Given the description of an element on the screen output the (x, y) to click on. 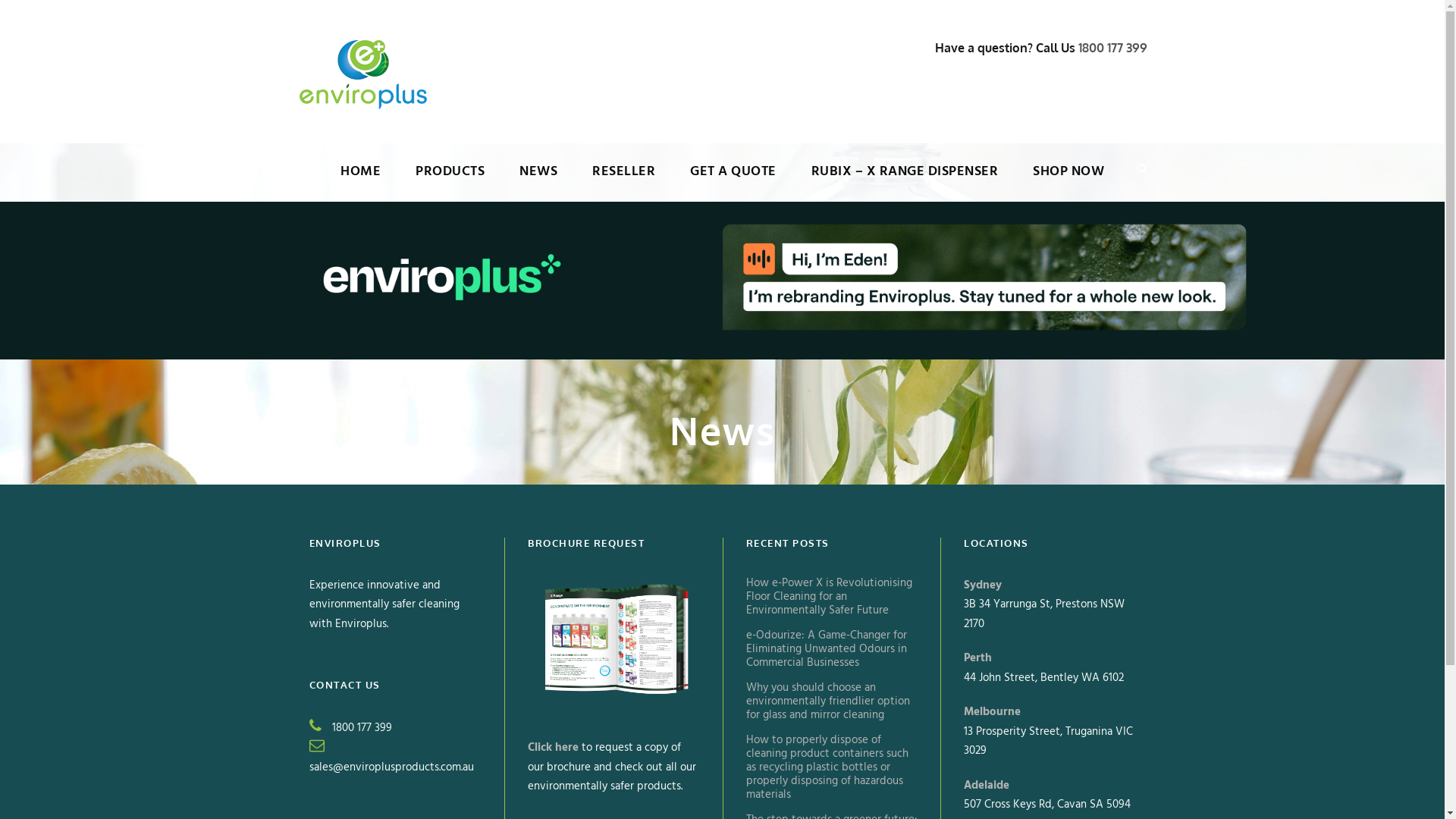
Click here Element type: text (552, 747)
HOME Element type: text (360, 180)
SHOP NOW Element type: text (1068, 180)
Melbourne Element type: text (991, 711)
GET A QUOTE Element type: text (733, 180)
RESELLER Element type: text (623, 180)
Perth Element type: text (977, 658)
PRODUCTS Element type: text (449, 180)
1800 177 399 Element type: text (1112, 47)
NEWS Element type: text (538, 180)
Adelaide Element type: text (986, 785)
Sydney Element type: text (982, 585)
